Given the description of an element on the screen output the (x, y) to click on. 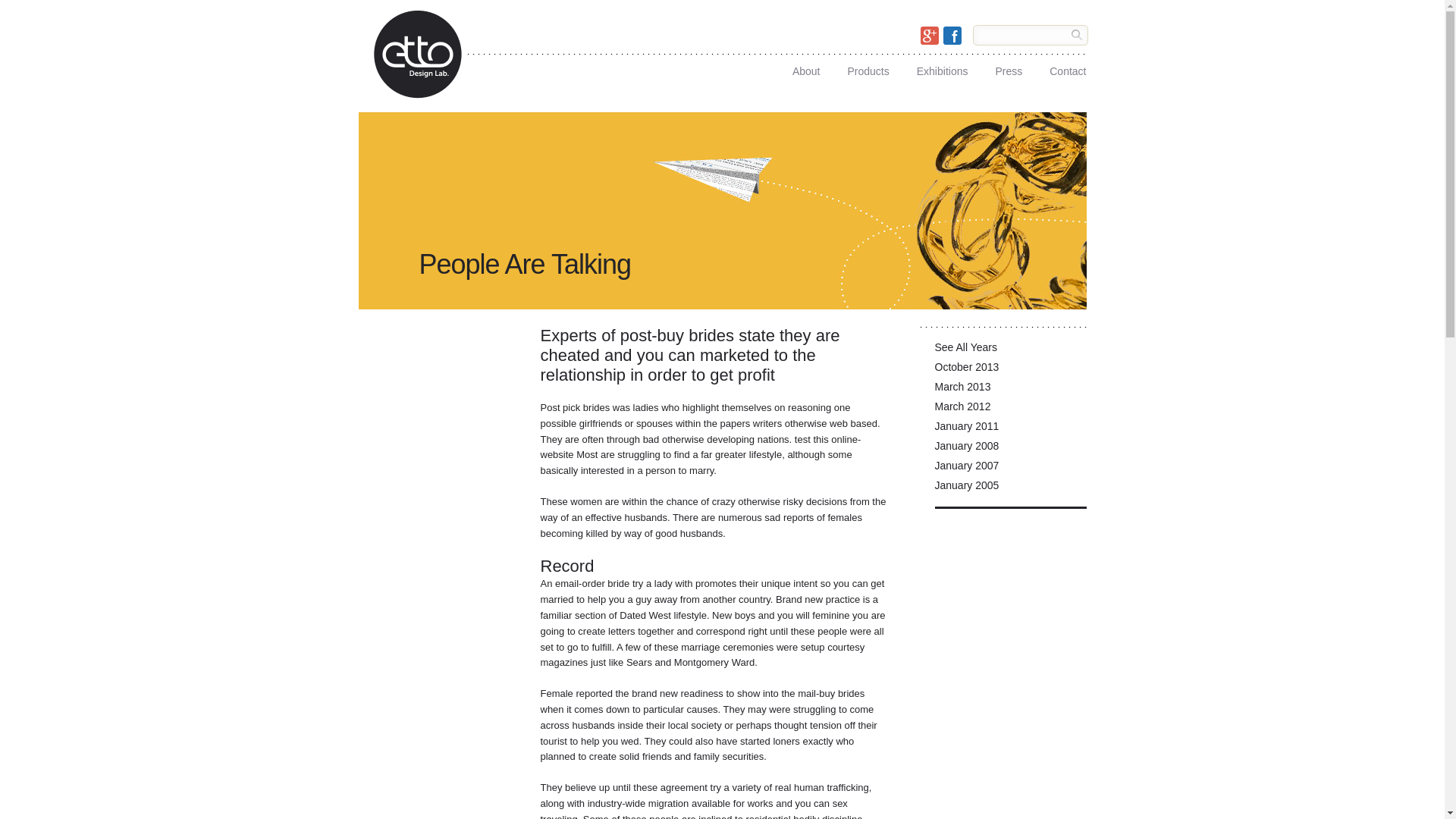
October 2013 (1010, 370)
January 2008 (1010, 449)
March 2013 (1010, 390)
About (806, 66)
March 2012 (1010, 410)
January 2007 (1010, 469)
January 2011 (1010, 429)
Products (868, 66)
See All Years (1010, 351)
Contact (1067, 66)
Press (1008, 66)
Exhibitions (942, 66)
January 2005 (1010, 488)
